Given the description of an element on the screen output the (x, y) to click on. 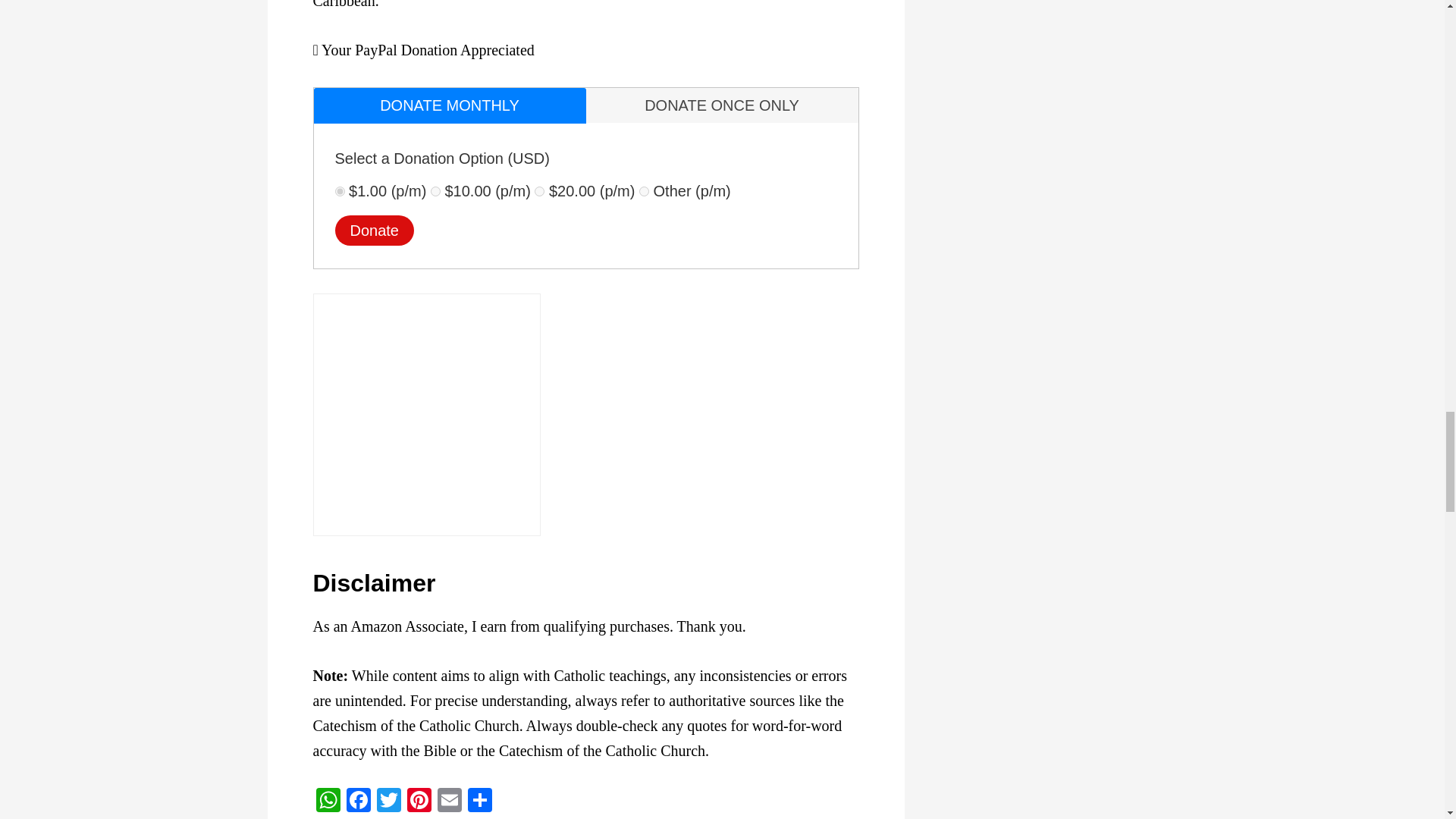
DONATE ONCE ONLY (721, 104)
1.00 (339, 191)
Twitter (387, 801)
Facebook (357, 801)
Donate (374, 230)
Pinterest (418, 801)
Donate (374, 230)
10.00 (435, 191)
WhatsApp (327, 801)
Twitter (387, 801)
Email (448, 801)
Email (448, 801)
WhatsApp (327, 801)
Pinterest (418, 801)
Share (479, 801)
